Given the description of an element on the screen output the (x, y) to click on. 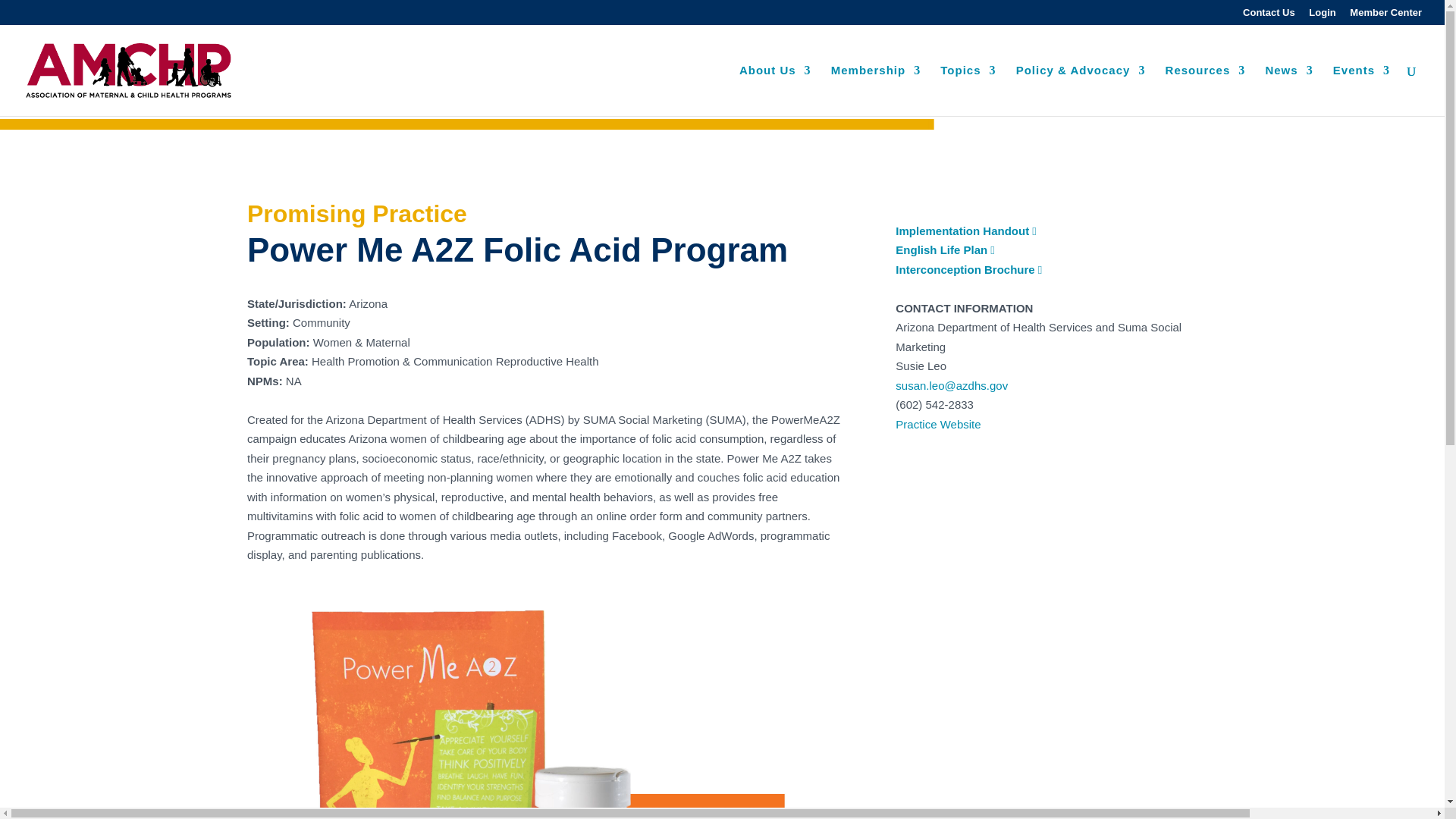
Contact Us (1269, 16)
Membership (875, 90)
Login (1321, 16)
Topics (967, 90)
Member Center (1385, 16)
About Us (774, 90)
